Given the description of an element on the screen output the (x, y) to click on. 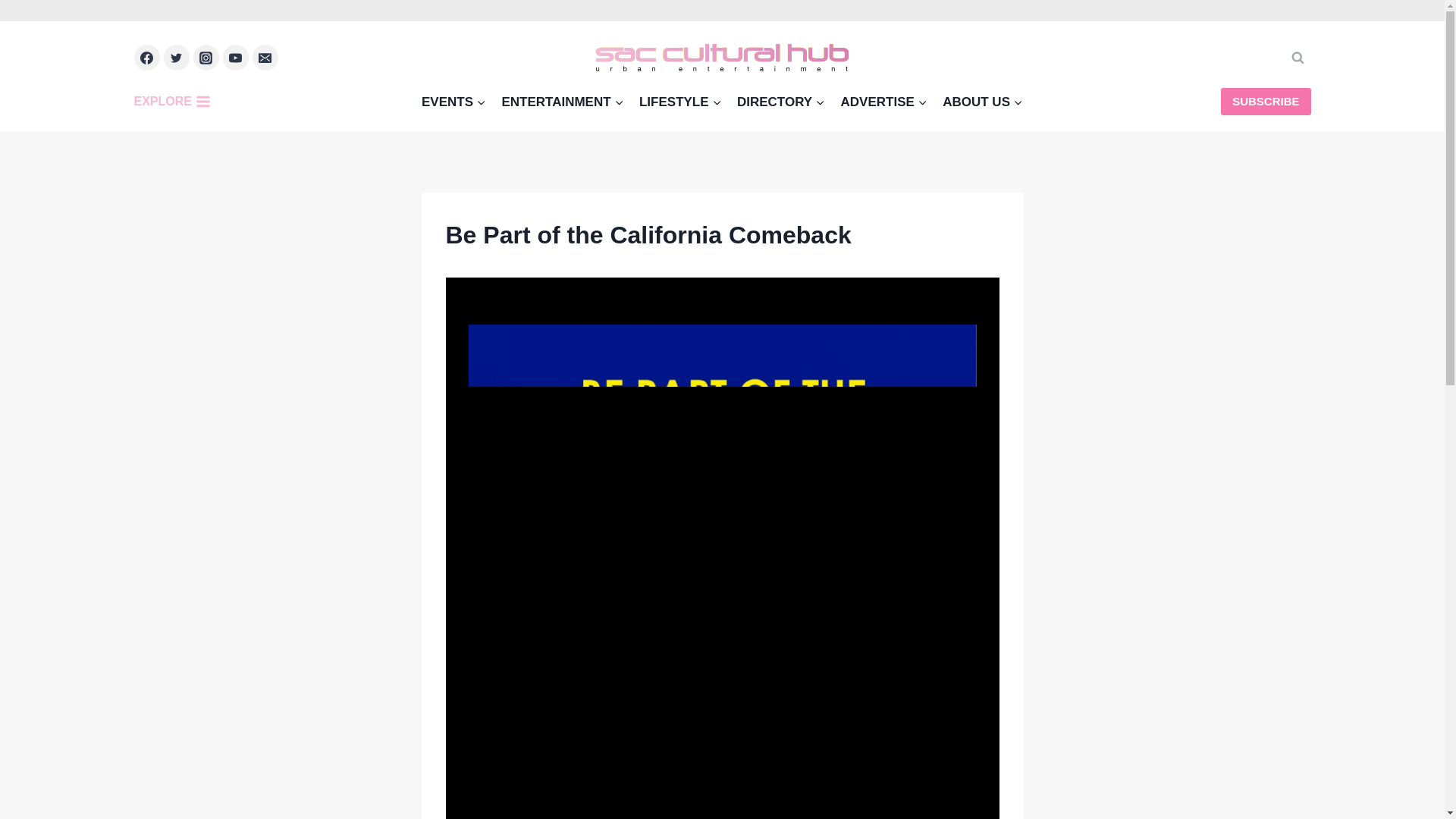
LIFESTYLE (680, 101)
EVENTS (453, 101)
ENTERTAINMENT (562, 101)
EXPLORE (174, 101)
